Given the description of an element on the screen output the (x, y) to click on. 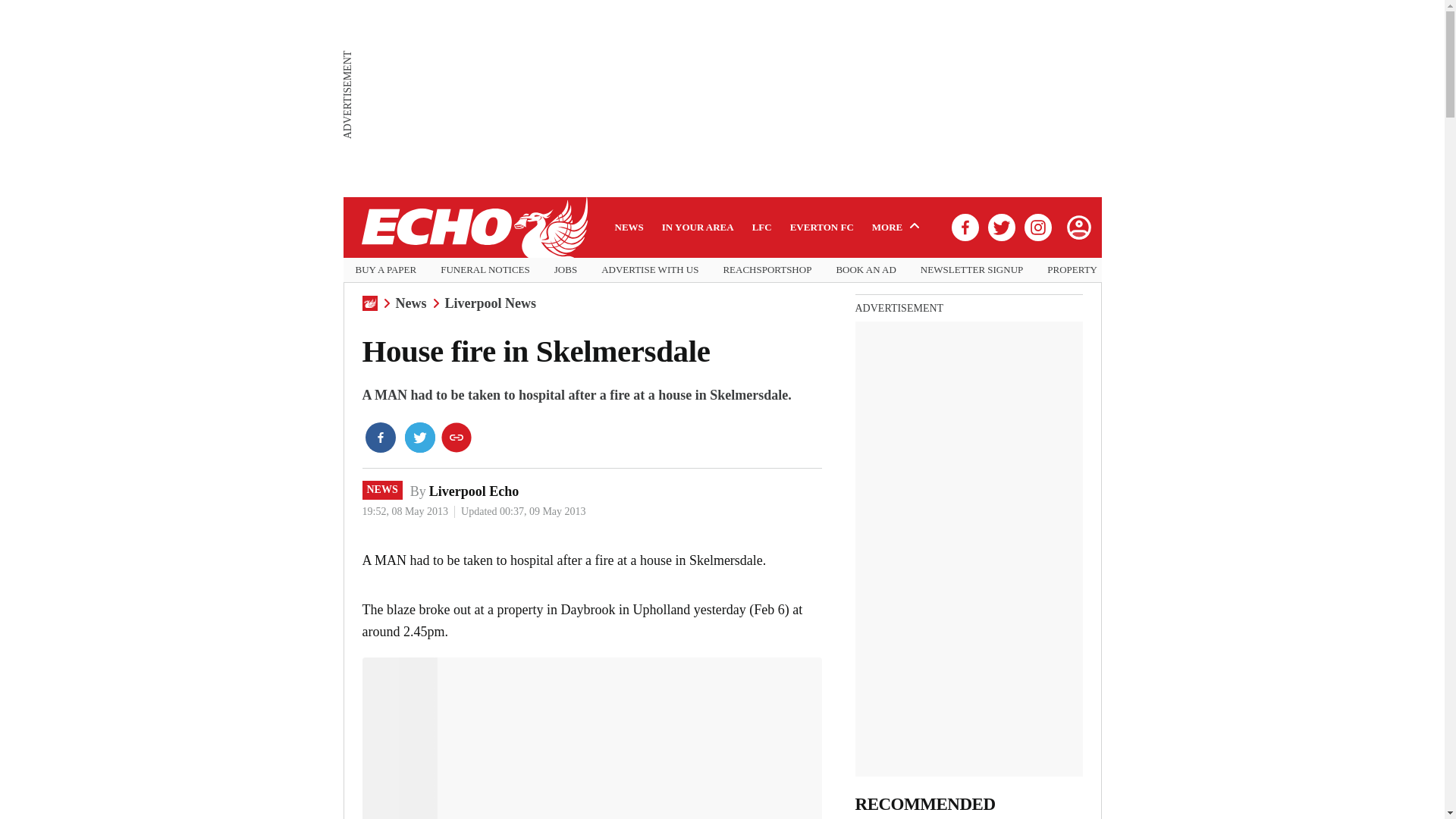
avatar (1077, 227)
ADVERTISE WITH US (649, 270)
IN YOUR AREA (697, 227)
NEWSLETTER SIGNUP (971, 270)
REACHSPORTSHOP (766, 270)
EVERTON FC (821, 227)
BUY A PAPER (385, 270)
copy link (456, 437)
JOBS (565, 270)
News (411, 303)
FUNERAL NOTICES (485, 270)
BOOK AN AD (865, 270)
Liverpool News (489, 303)
Go to the Liverpool Echo homepage (473, 227)
PROPERTY (1071, 270)
